Given the description of an element on the screen output the (x, y) to click on. 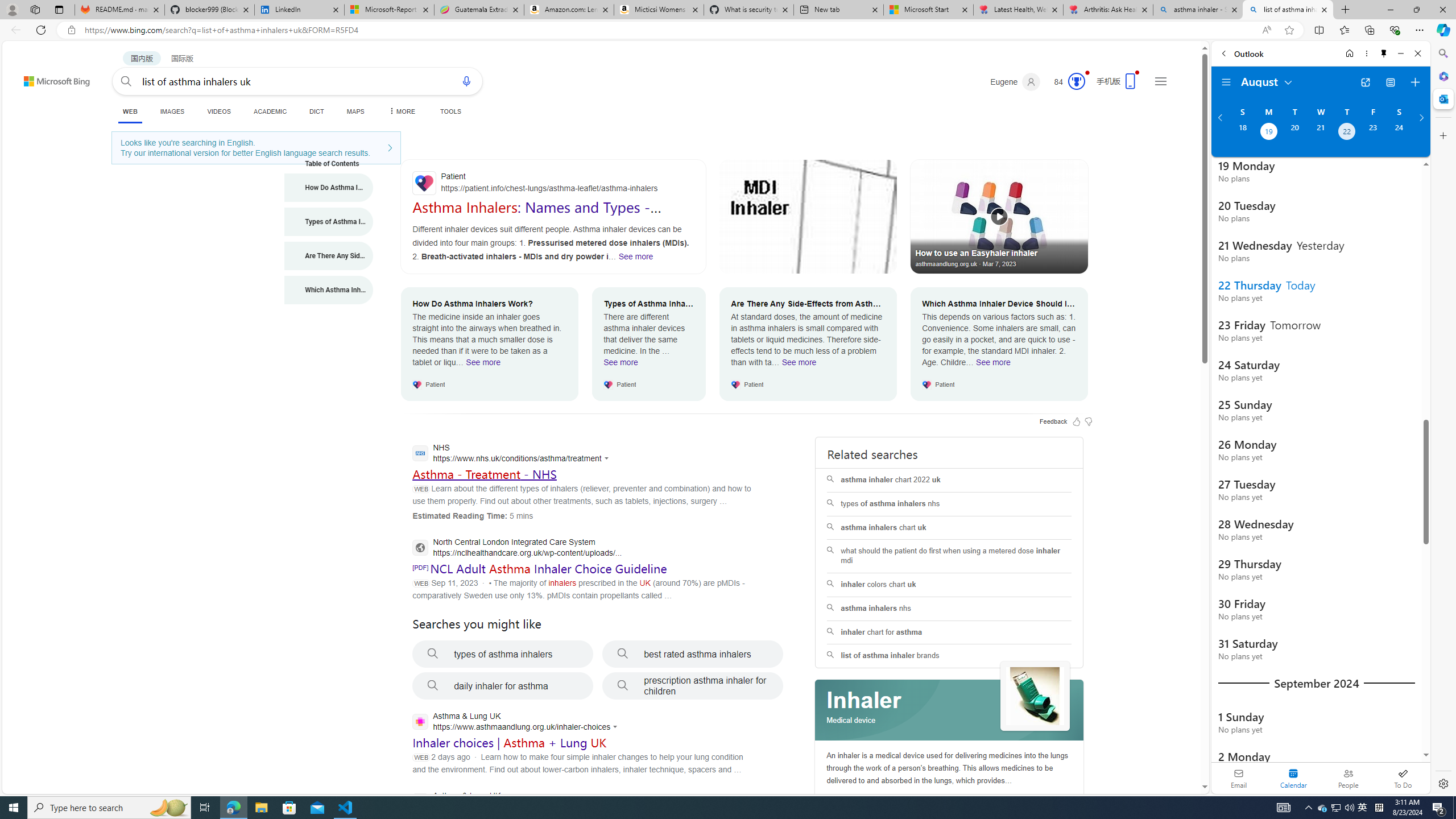
AutomationID: mfa_root (1161, 752)
asthma inhaler chart 2022 uk (949, 480)
asthma inhalers chart uk (949, 527)
TOOLS (450, 111)
Class: spl_logobg (949, 710)
Search button (126, 80)
types of asthma inhalers nhs (949, 503)
